Given the description of an element on the screen output the (x, y) to click on. 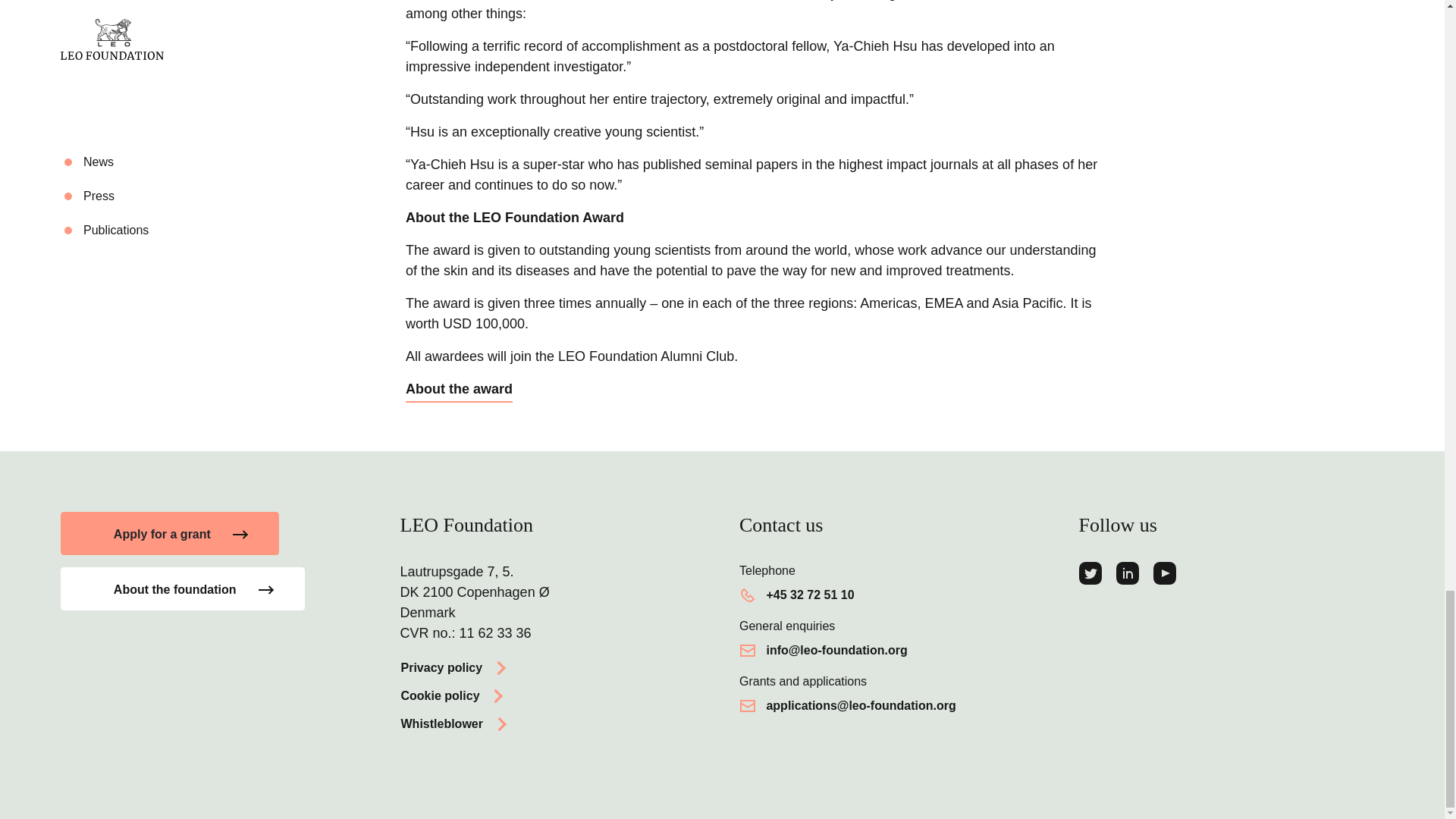
About the award (459, 390)
Cookie policy (453, 694)
Whistleblower (455, 722)
Privacy policy (454, 667)
About the foundation (182, 588)
Apply for a grant (170, 533)
